Given the description of an element on the screen output the (x, y) to click on. 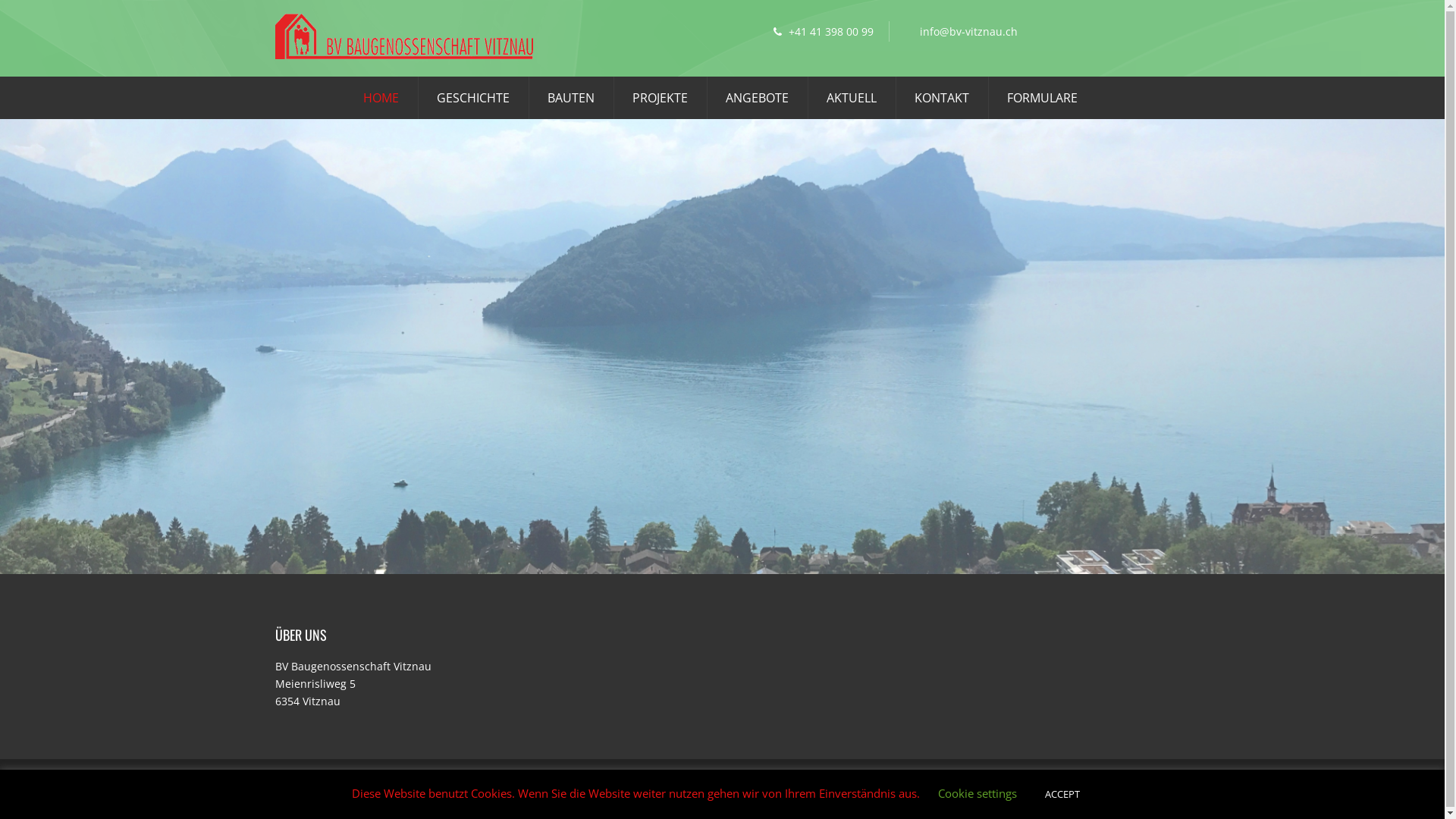
HOME Element type: text (380, 97)
KONTAKT Element type: text (941, 97)
ANGEBOTE Element type: text (756, 97)
BAUTEN Element type: text (570, 97)
ACCEPT Element type: text (1061, 794)
Cookie settings Element type: text (977, 792)
PROJEKTE Element type: text (659, 97)
AKTUELL Element type: text (851, 97)
FORMULARE Element type: text (1042, 97)
GESCHICHTE Element type: text (472, 97)
